Given the description of an element on the screen output the (x, y) to click on. 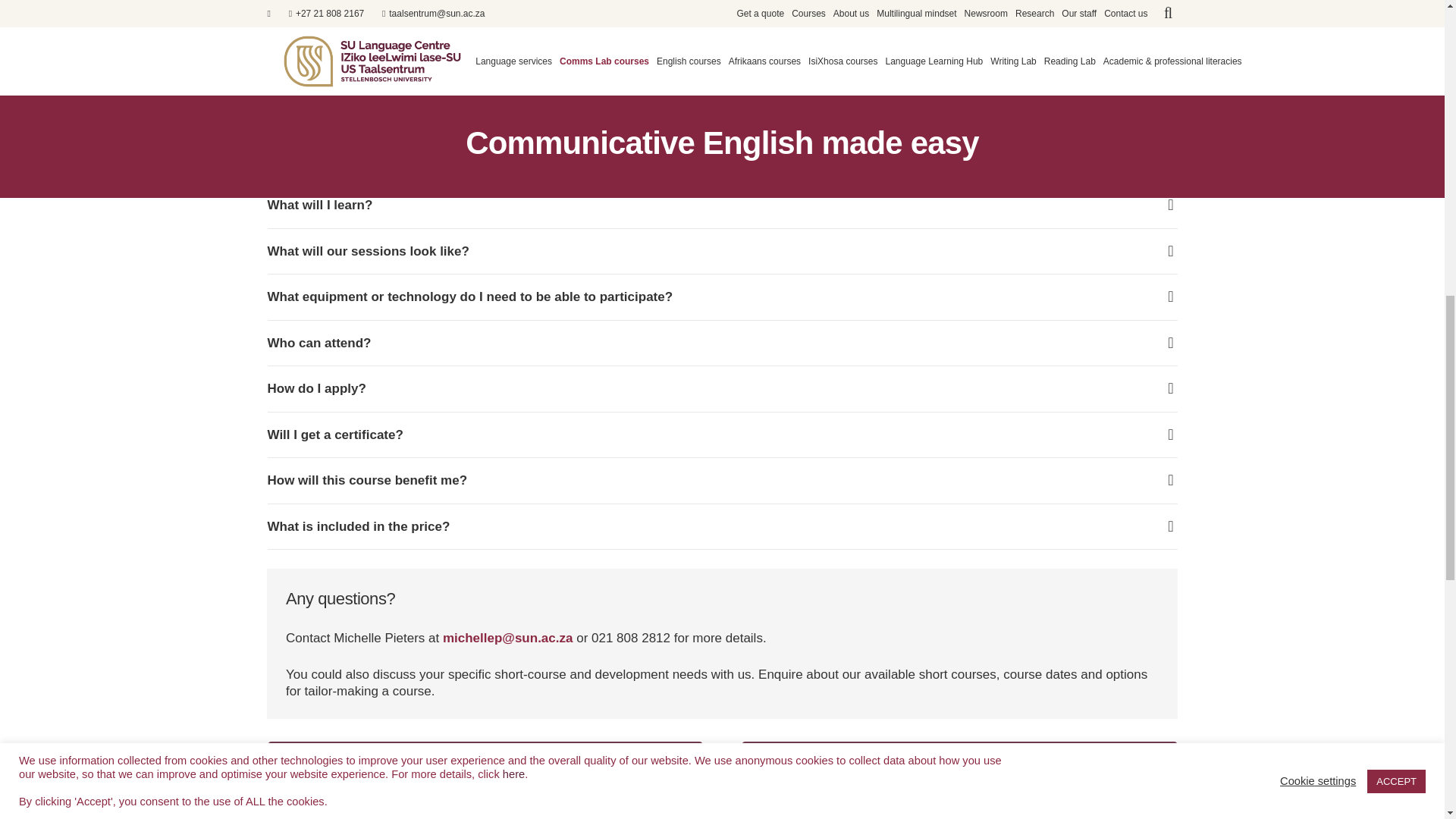
Contact us (484, 758)
Back to top (1413, 34)
Apply now (959, 758)
